Given the description of an element on the screen output the (x, y) to click on. 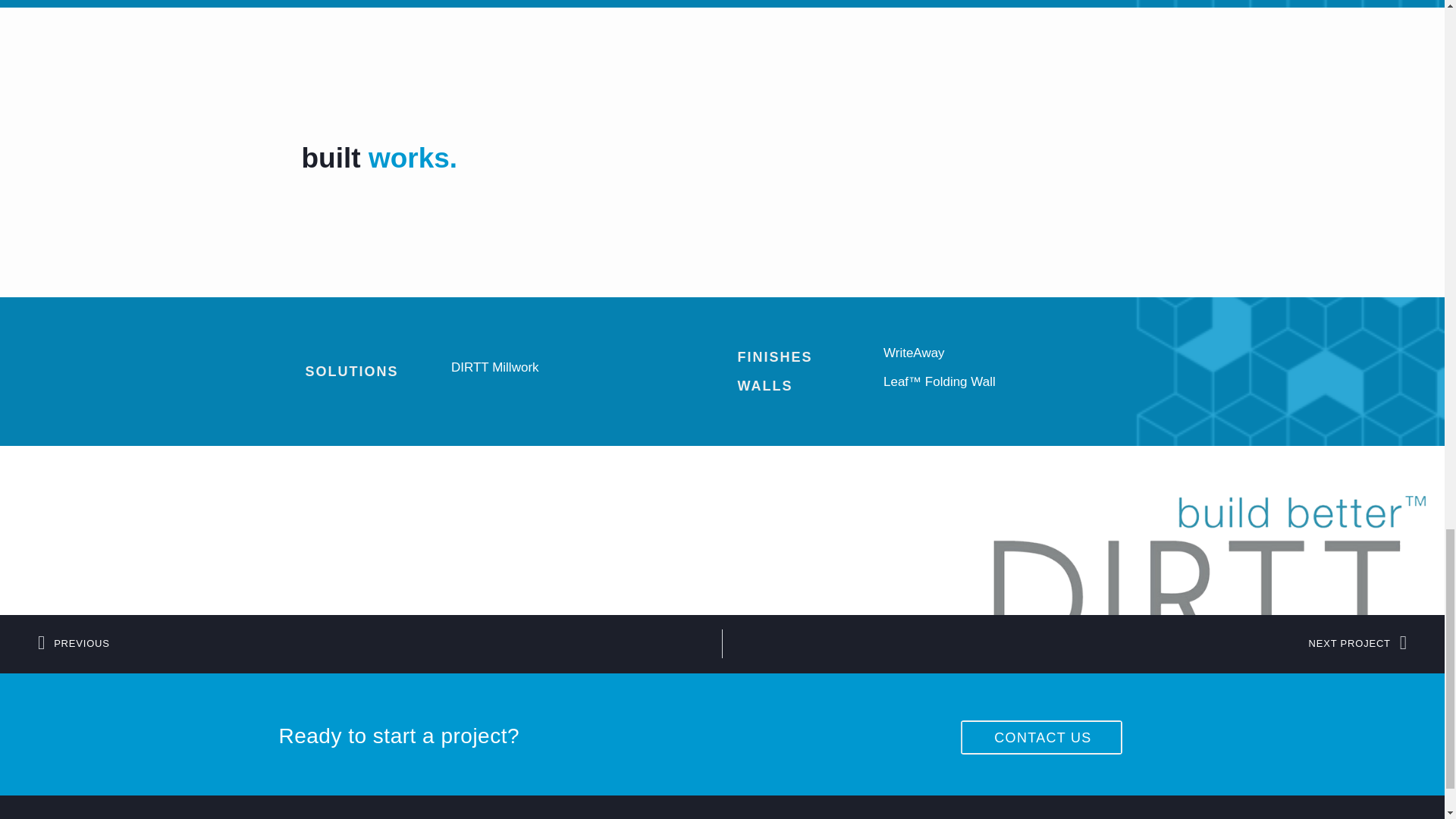
NEXT PROJECT (1064, 643)
CONTACT US (1040, 737)
PREVIOUS (379, 643)
